Given the description of an element on the screen output the (x, y) to click on. 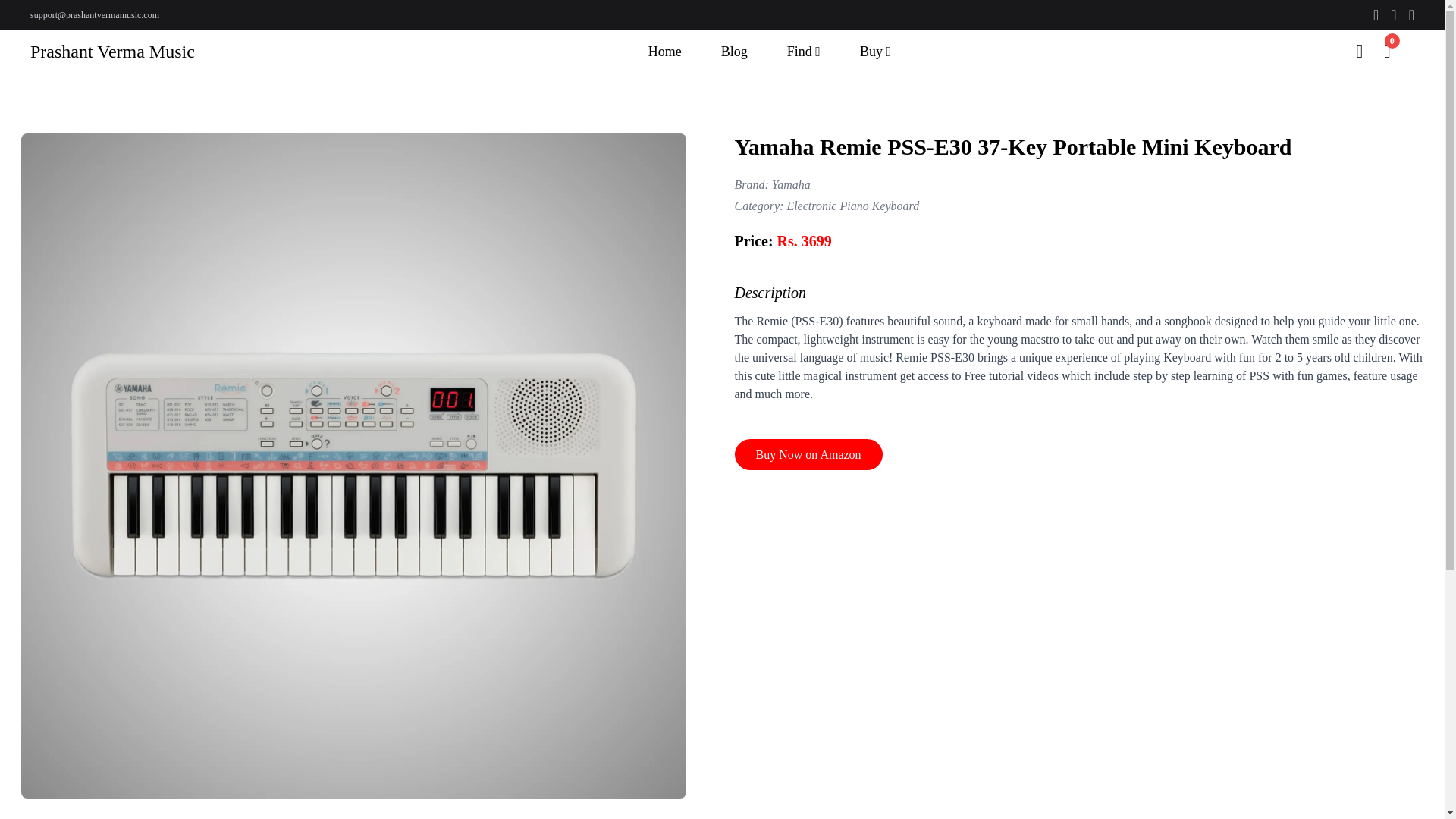
Home (665, 51)
Blog (734, 51)
Prashant Verma Music (112, 51)
Buy Now on Amazon (807, 454)
0 (1398, 51)
